Given the description of an element on the screen output the (x, y) to click on. 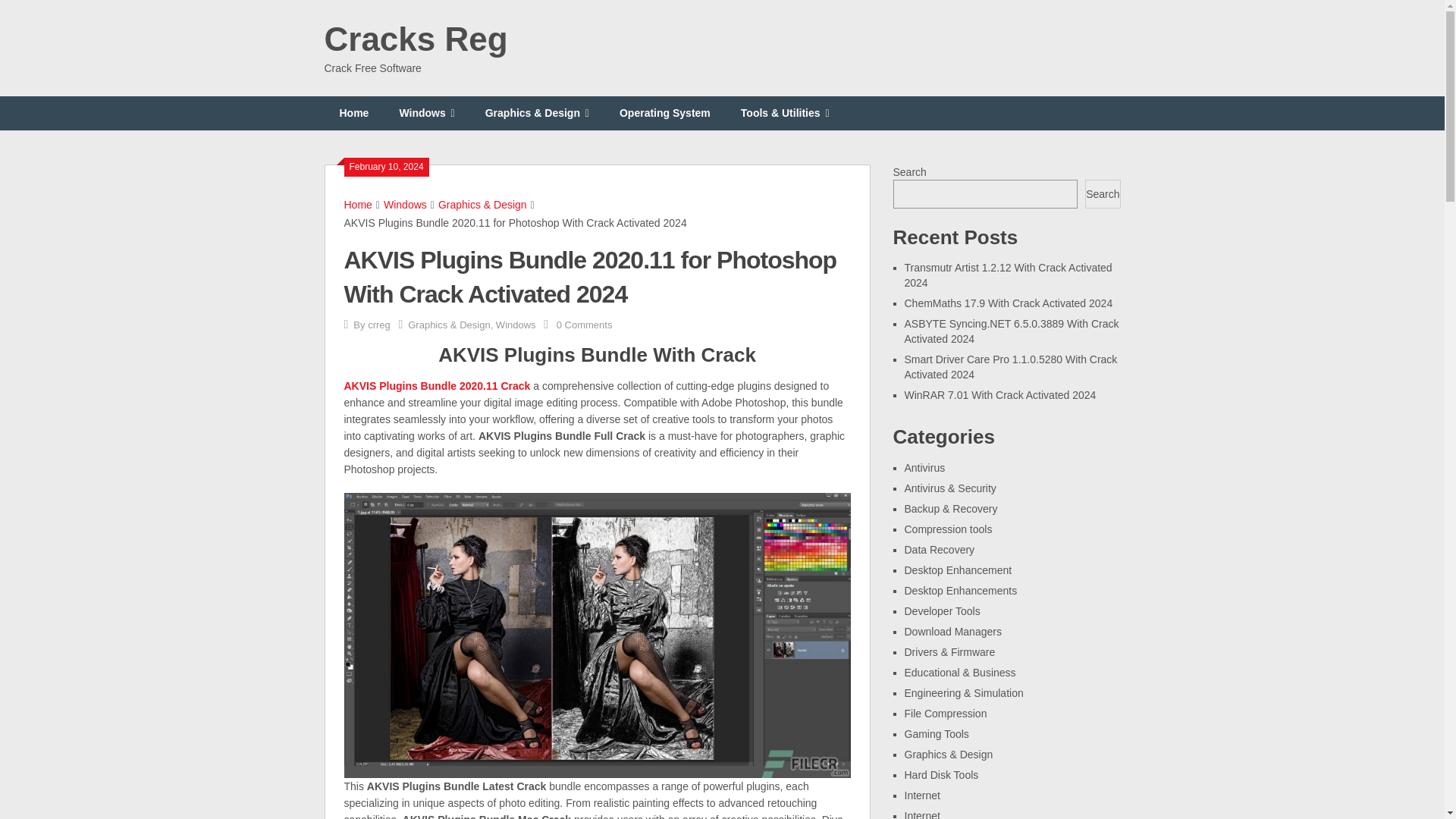
AKVIS Plugins Bundle 2020.11 Crack (437, 386)
Home (357, 204)
Home (354, 113)
crreg (379, 324)
Posts by crreg (379, 324)
Cracks Reg (416, 38)
Windows (426, 113)
0 Comments (584, 324)
Windows (515, 324)
Windows (405, 204)
Operating System (664, 113)
